Given the description of an element on the screen output the (x, y) to click on. 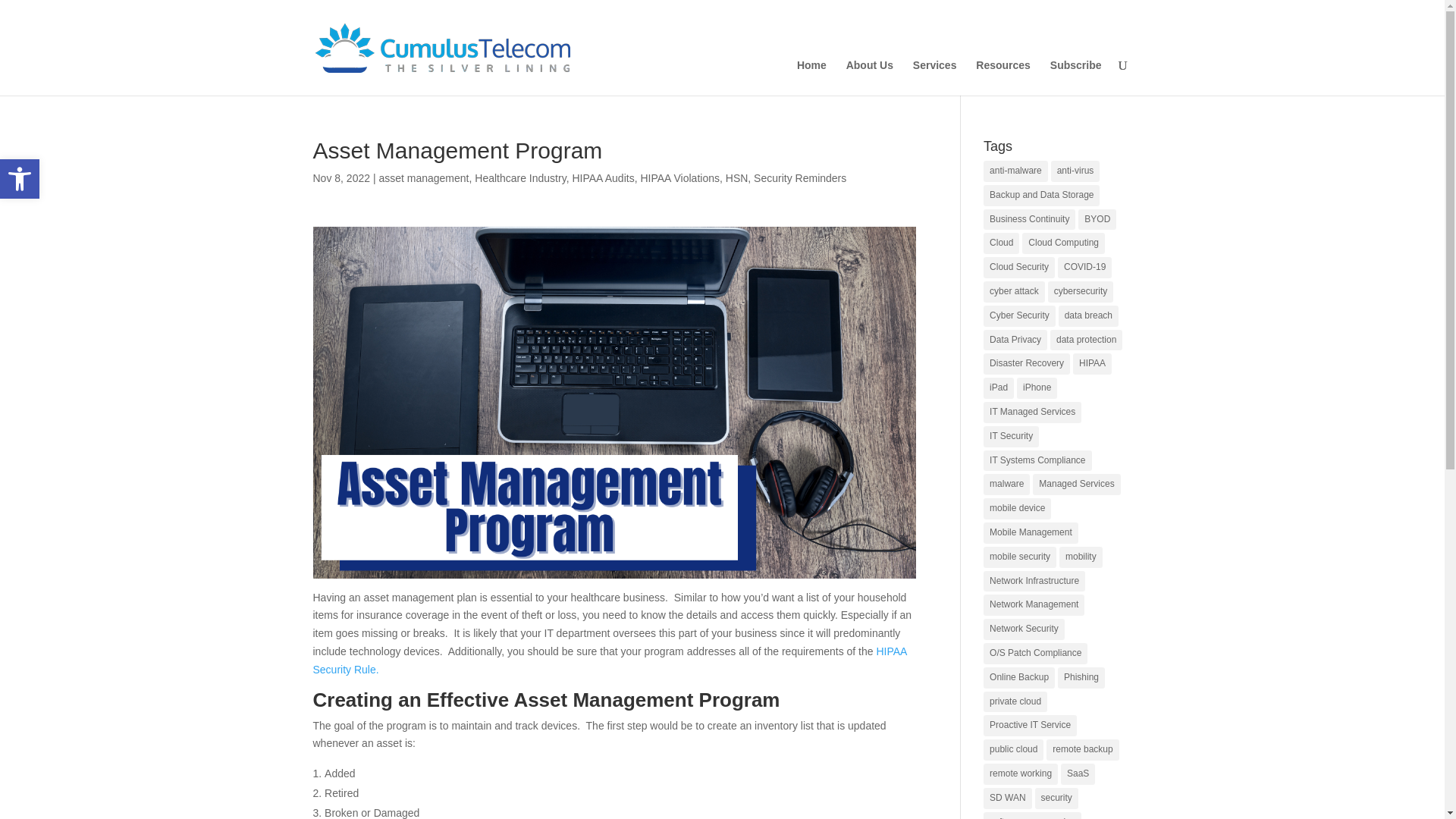
Subscribe (1075, 77)
Services (934, 77)
Resources (1002, 77)
Accessibility Tools (19, 178)
Accessibility Tools (19, 178)
About Us (19, 178)
